Given the description of an element on the screen output the (x, y) to click on. 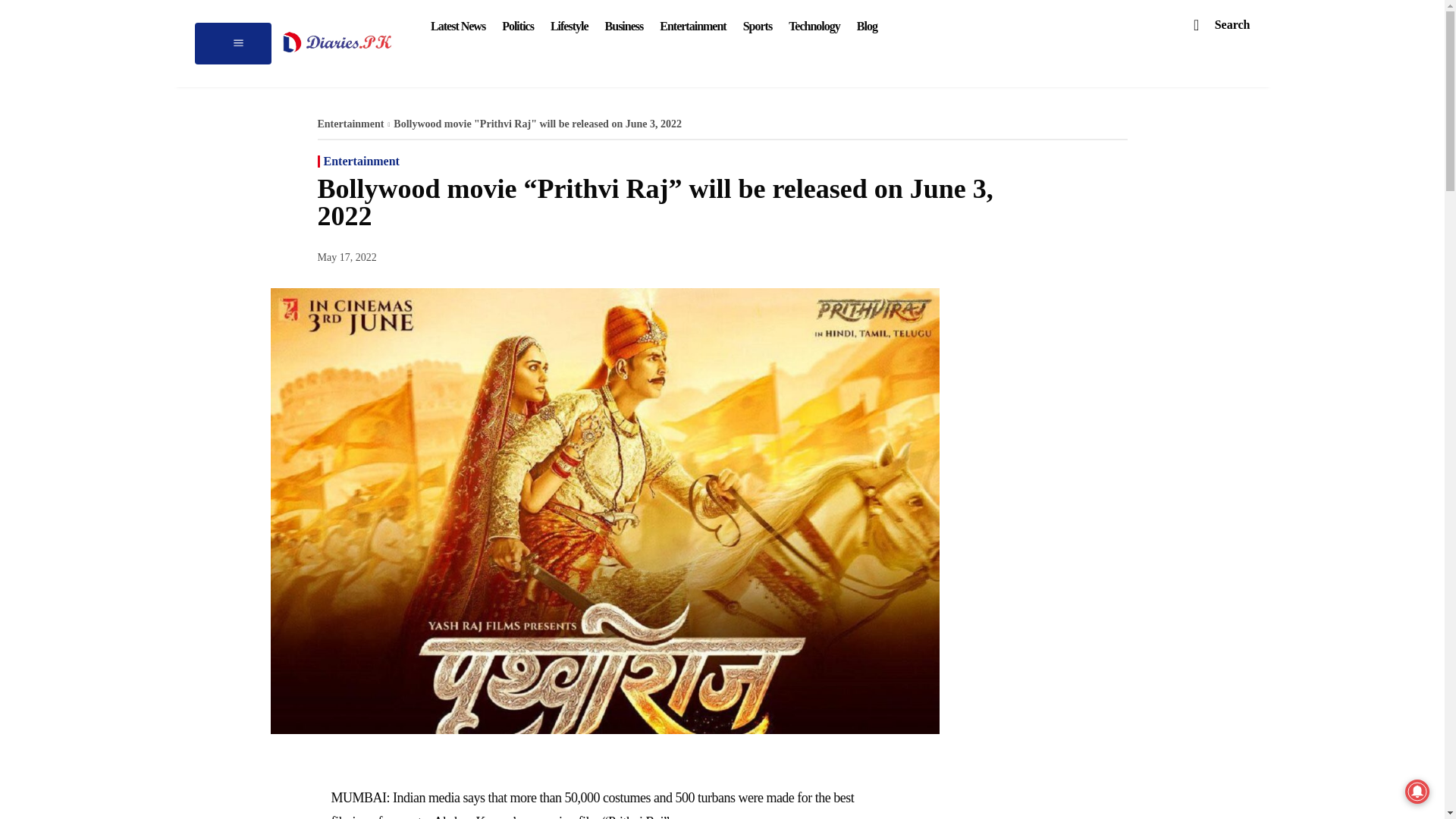
Blog (866, 25)
Search (1213, 24)
Technology (814, 25)
Latest News (457, 25)
Entertainment (691, 25)
Sports (757, 25)
View all posts in Entertainment (350, 123)
Business (624, 25)
Entertainment (360, 161)
